Given the description of an element on the screen output the (x, y) to click on. 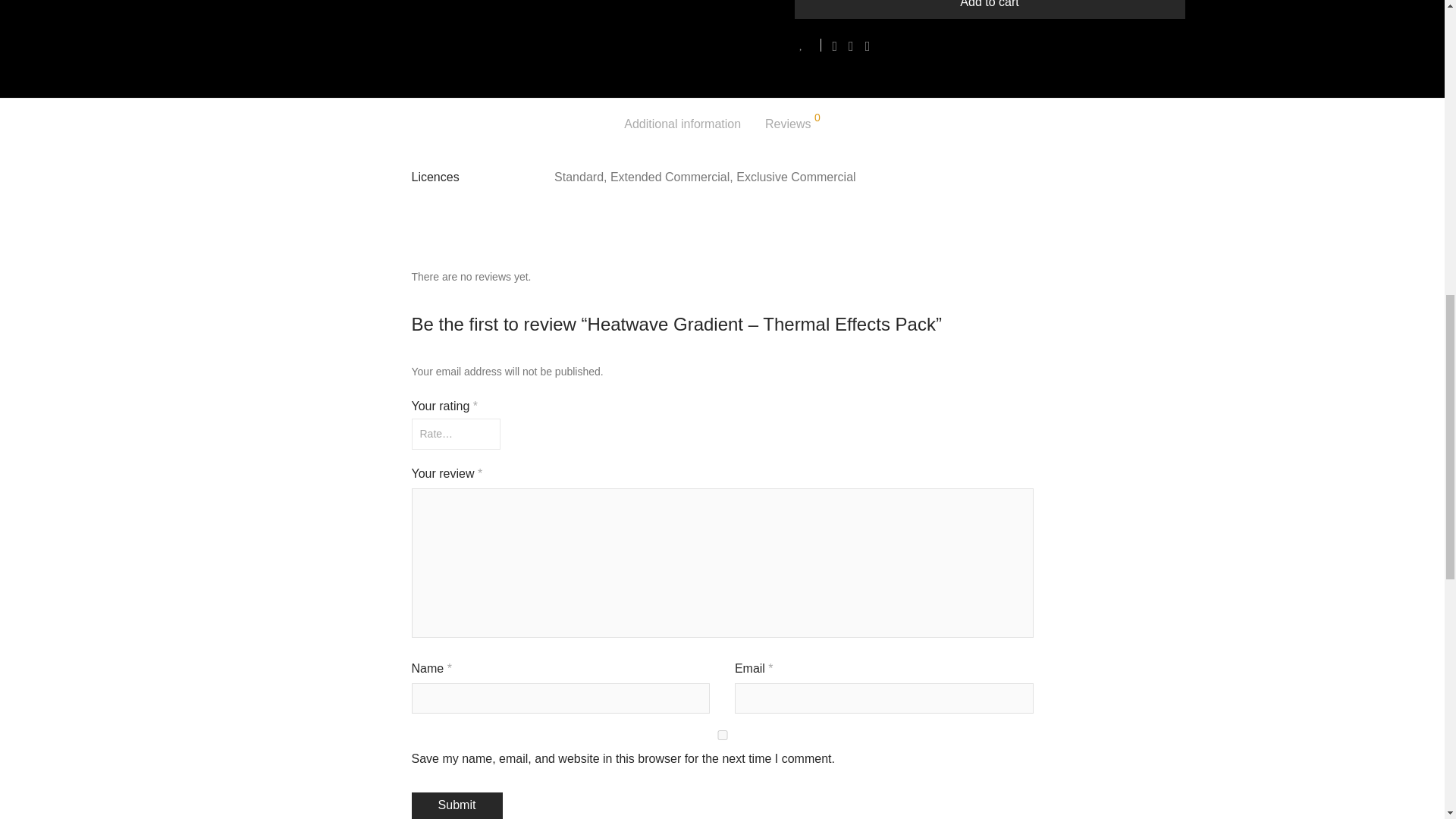
Add to cart (989, 9)
Submit (456, 805)
yes (721, 735)
Reviews 0 (793, 124)
Submit (456, 805)
Add to Wishlist (807, 44)
Additional information (682, 124)
